Given the description of an element on the screen output the (x, y) to click on. 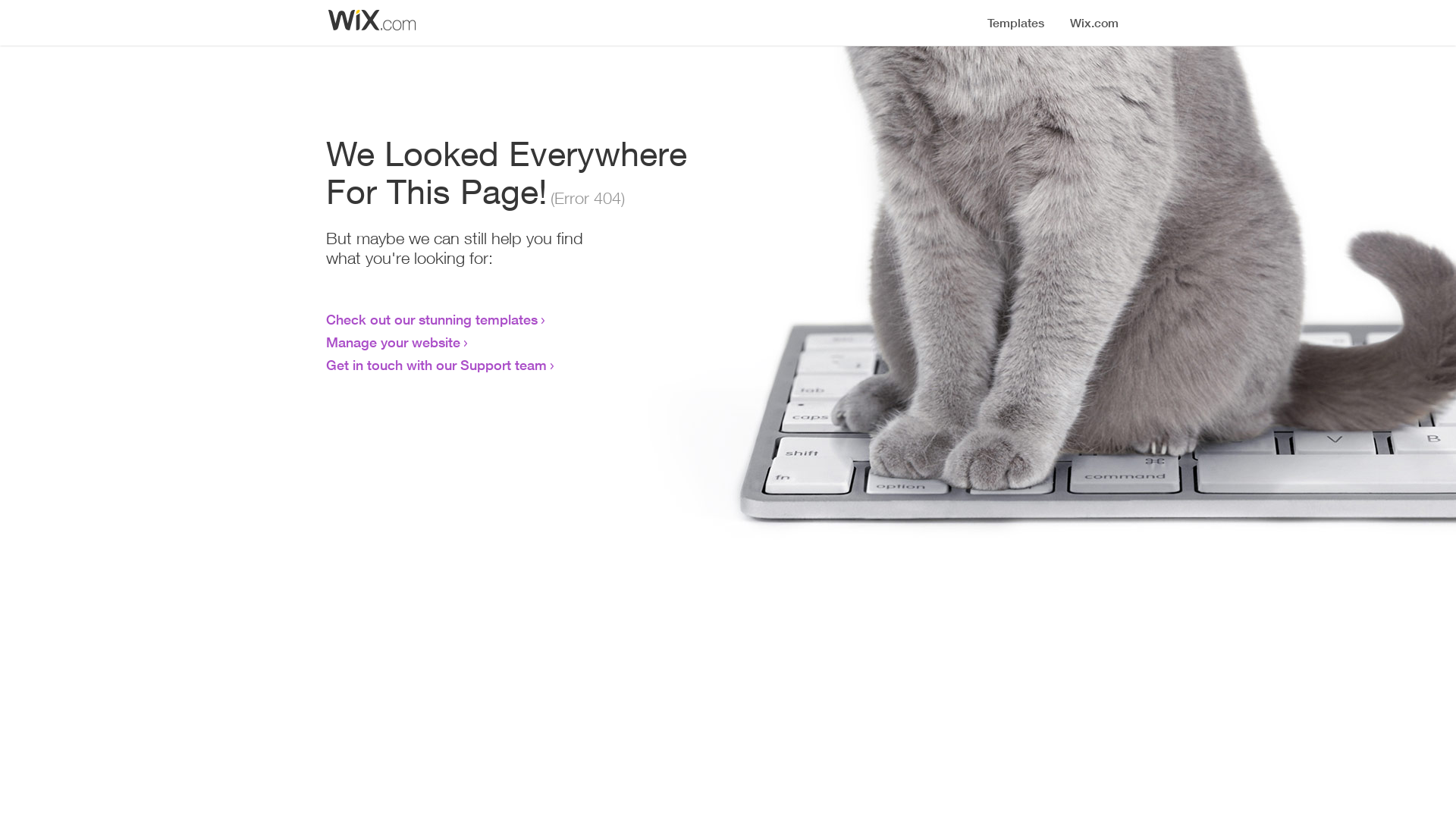
Check out our stunning templates Element type: text (431, 318)
Manage your website Element type: text (393, 341)
Get in touch with our Support team Element type: text (436, 364)
